Given the description of an element on the screen output the (x, y) to click on. 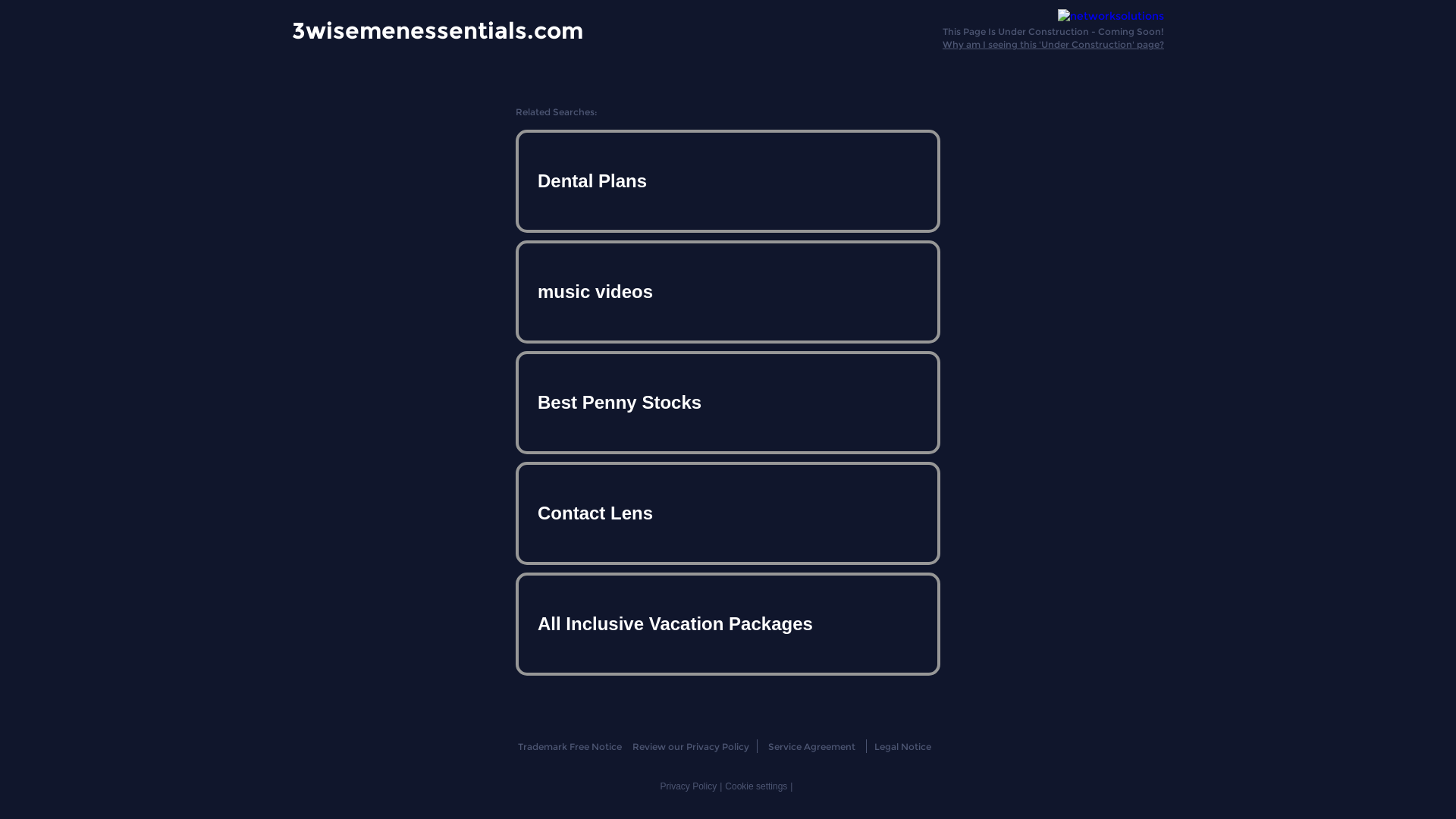
3wisemenessentials.com Element type: text (437, 29)
Trademark Free Notice Element type: text (569, 746)
Cookie settings Element type: text (755, 786)
Service Agreement Element type: text (810, 746)
Legal Notice Element type: text (901, 746)
Why am I seeing this 'Under Construction' page? Element type: text (1053, 44)
Contact Lens Element type: text (727, 512)
Review our Privacy Policy Element type: text (690, 746)
All Inclusive Vacation Packages Element type: text (727, 623)
Dental Plans Element type: text (727, 180)
Best Penny Stocks Element type: text (727, 402)
Privacy Policy Element type: text (687, 786)
music videos Element type: text (727, 291)
